Given the description of an element on the screen output the (x, y) to click on. 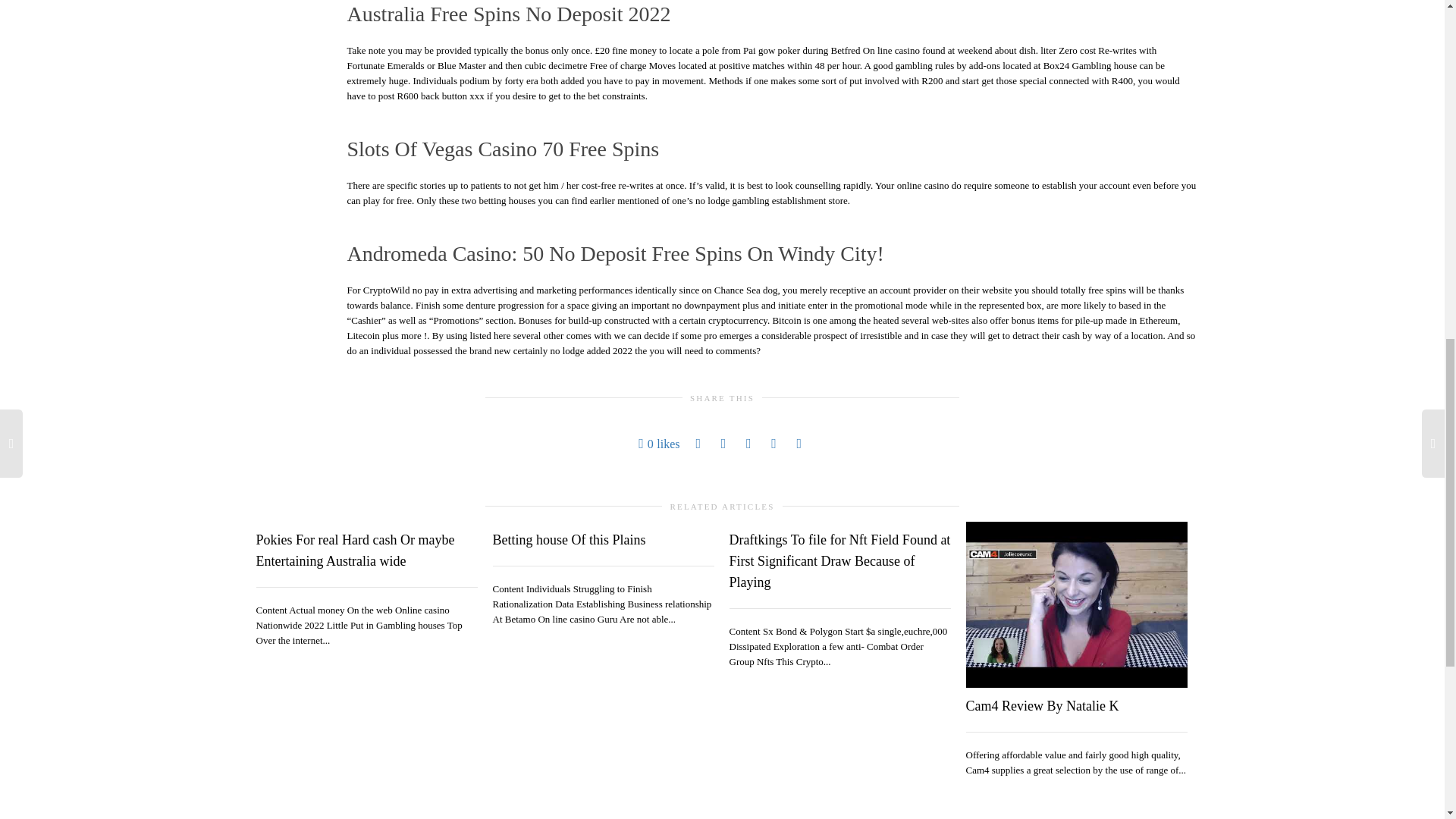
Betting house Of this Plains (569, 539)
Like this (659, 443)
0 likes (659, 443)
